Given the description of an element on the screen output the (x, y) to click on. 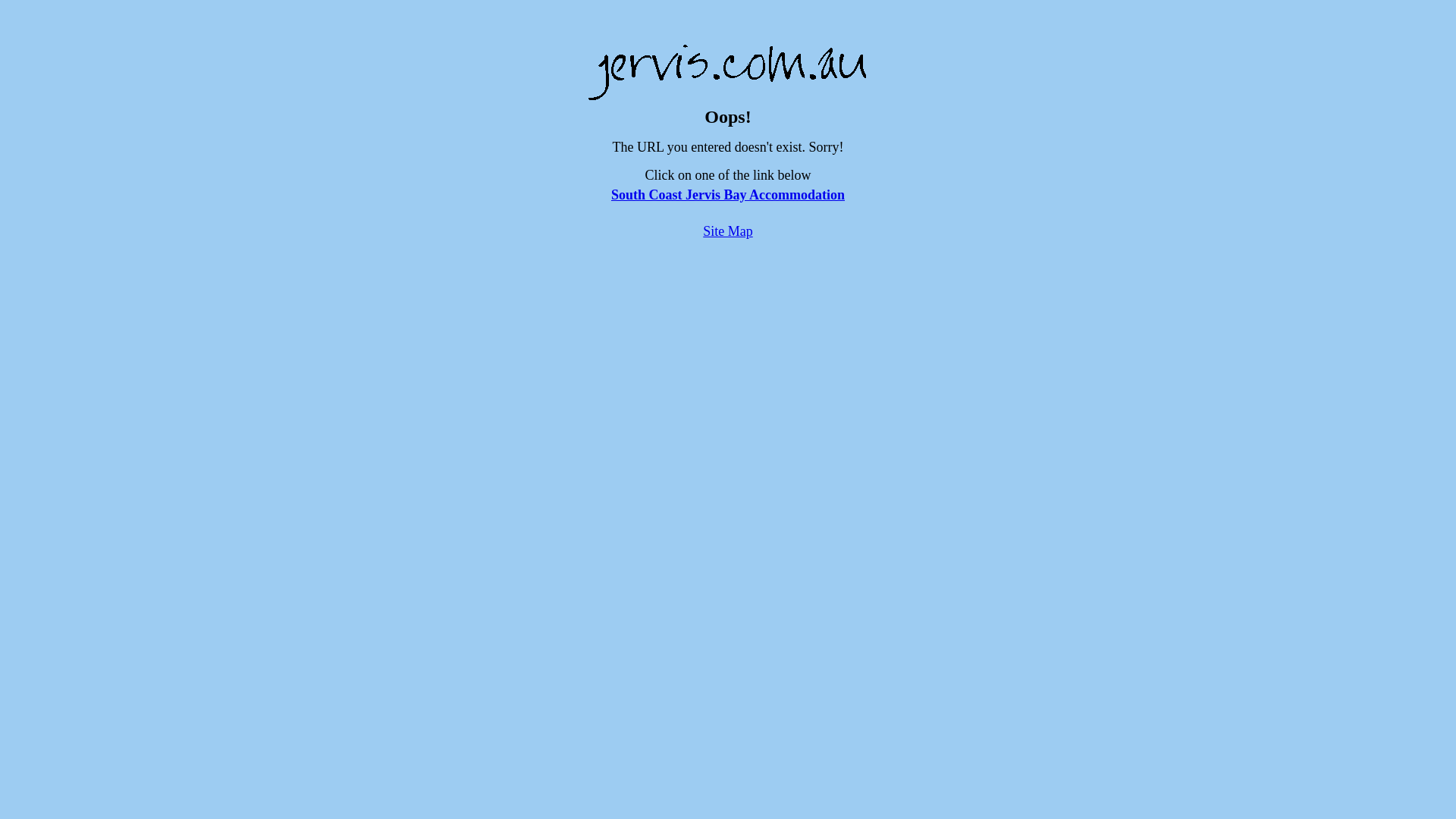
South Coast Jervis Bay Accommodation Element type: text (727, 194)
Site Map Element type: text (727, 230)
